Given the description of an element on the screen output the (x, y) to click on. 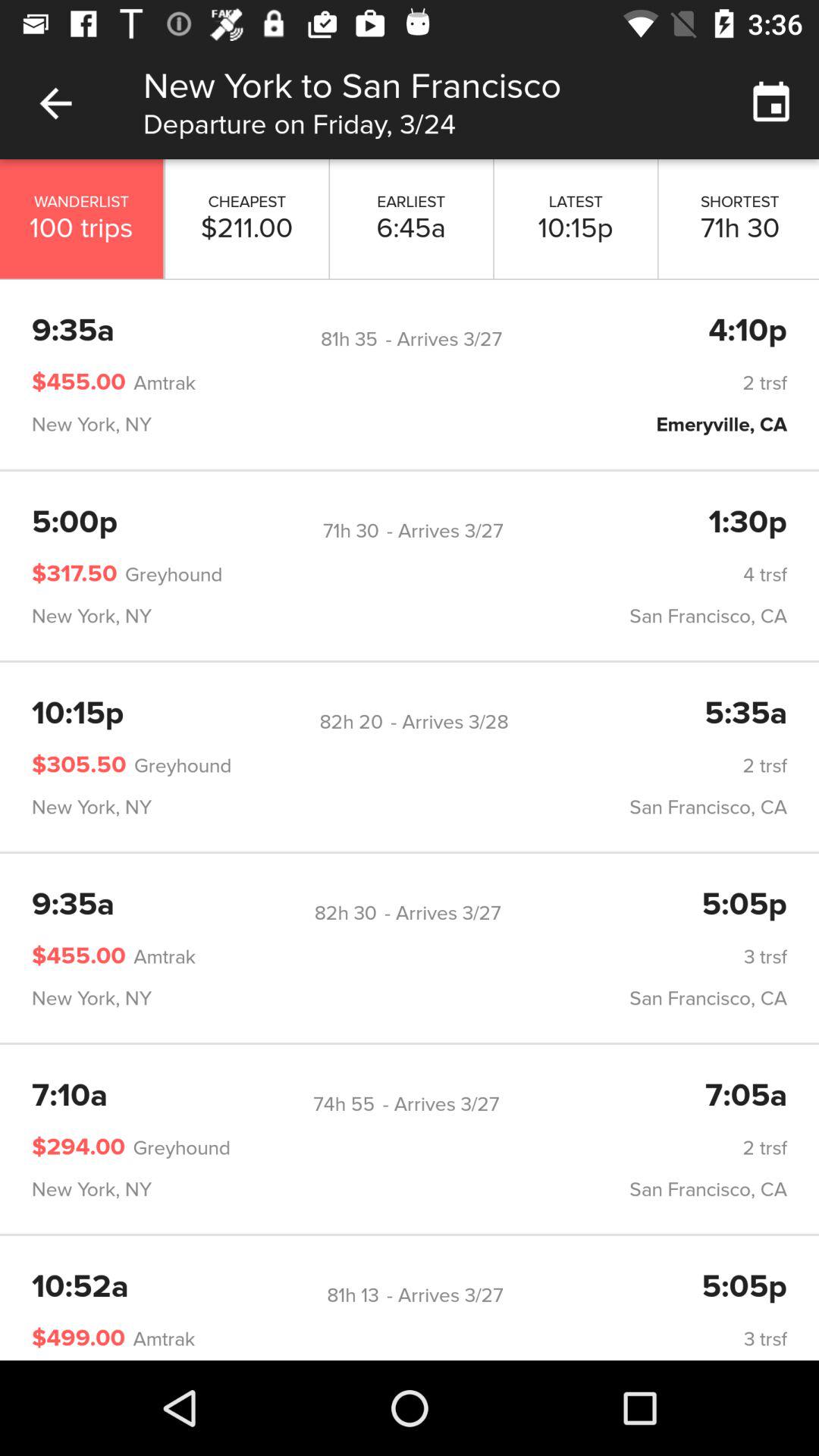
jump until the 81h 35 icon (348, 339)
